Given the description of an element on the screen output the (x, y) to click on. 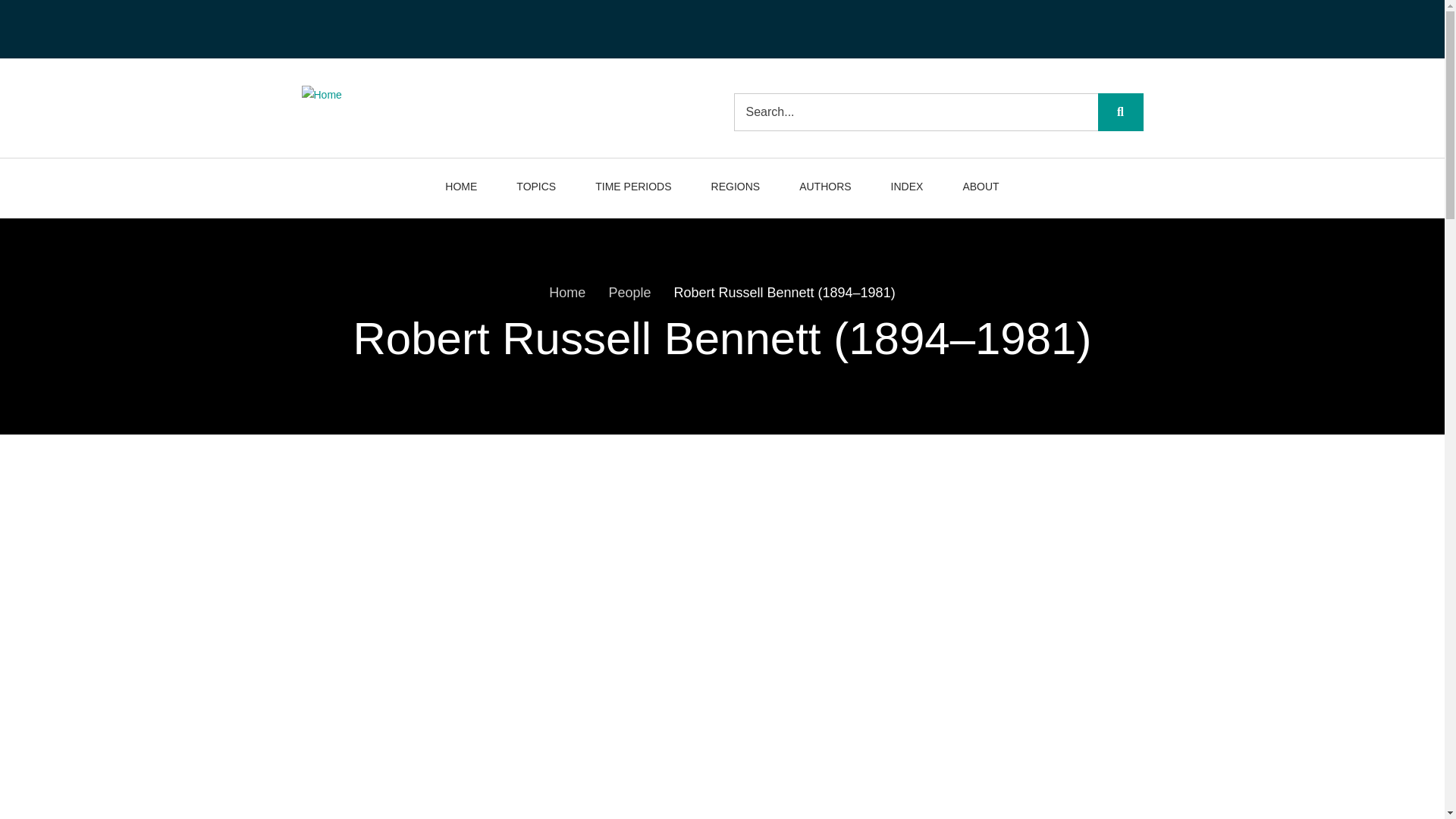
Search (1119, 112)
INDEX (907, 188)
REGIONS (735, 188)
TOPICS (535, 188)
People (629, 292)
TIME PERIODS (633, 188)
Enter the terms you wish to search for. (937, 112)
AUTHORS (825, 188)
Home (321, 94)
ABOUT (976, 188)
Search (1119, 112)
HOME (464, 188)
Home (566, 292)
Search (1119, 112)
